Given the description of an element on the screen output the (x, y) to click on. 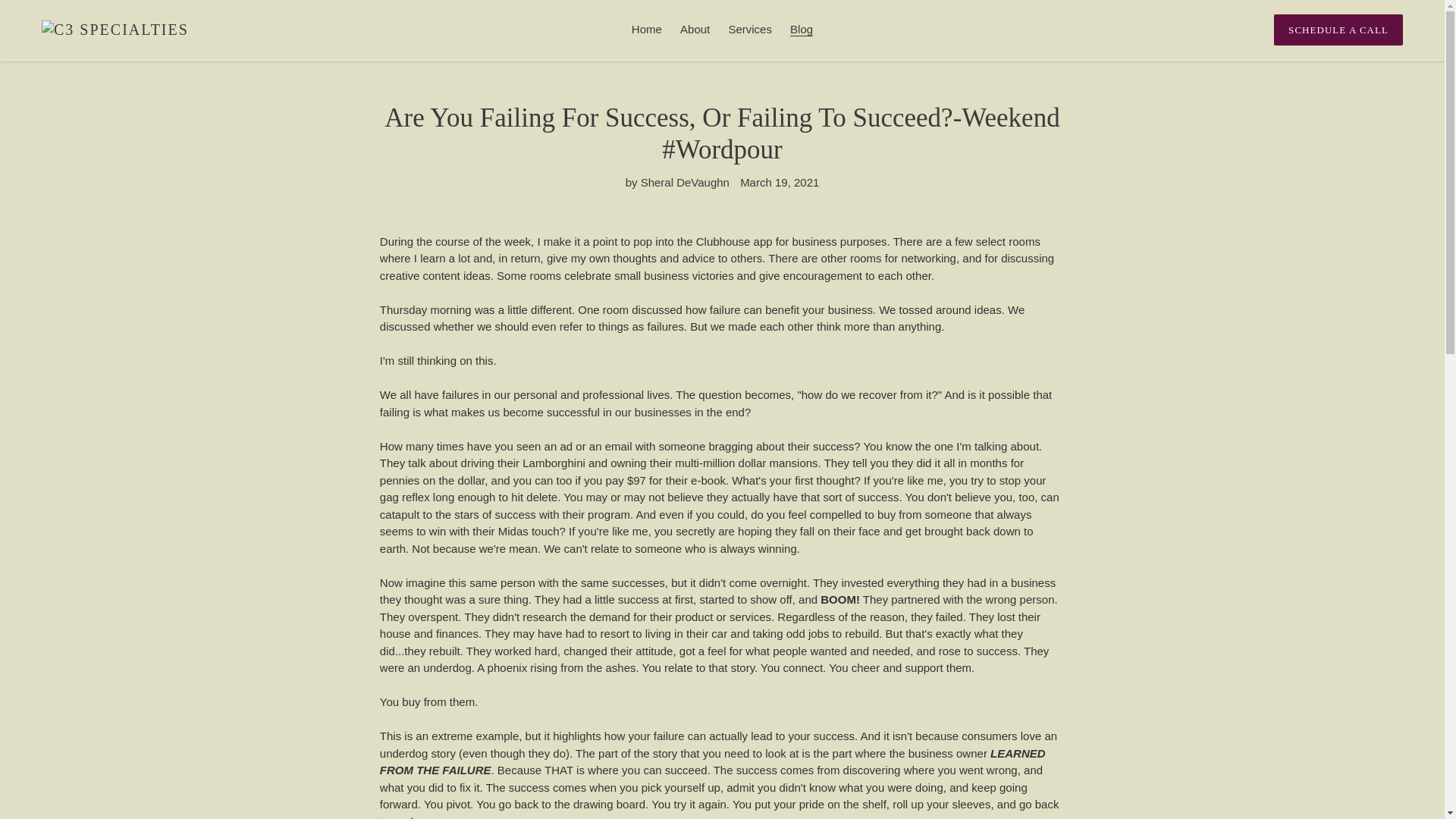
SCHEDULE A CALL (1338, 29)
About (694, 29)
Services (749, 29)
Home (646, 29)
Blog (802, 29)
